Given the description of an element on the screen output the (x, y) to click on. 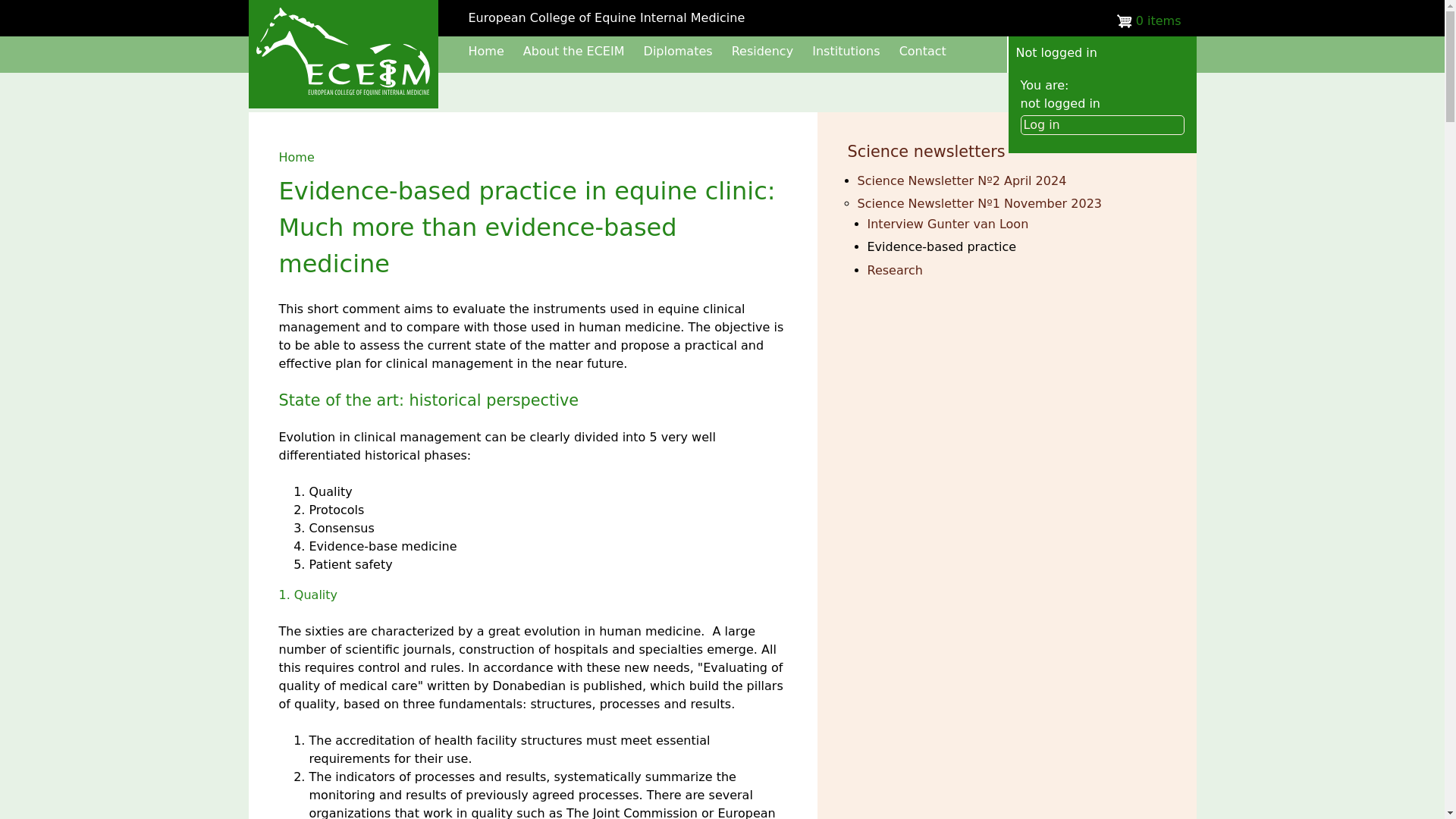
Home (485, 51)
Interview Gunter van Loon (948, 223)
Research (895, 269)
Residency (762, 51)
About the ECEIM (573, 51)
Evidence-based practice (941, 246)
Home (296, 156)
Contact (922, 51)
Log in (1102, 125)
0 items (1142, 21)
